Given the description of an element on the screen output the (x, y) to click on. 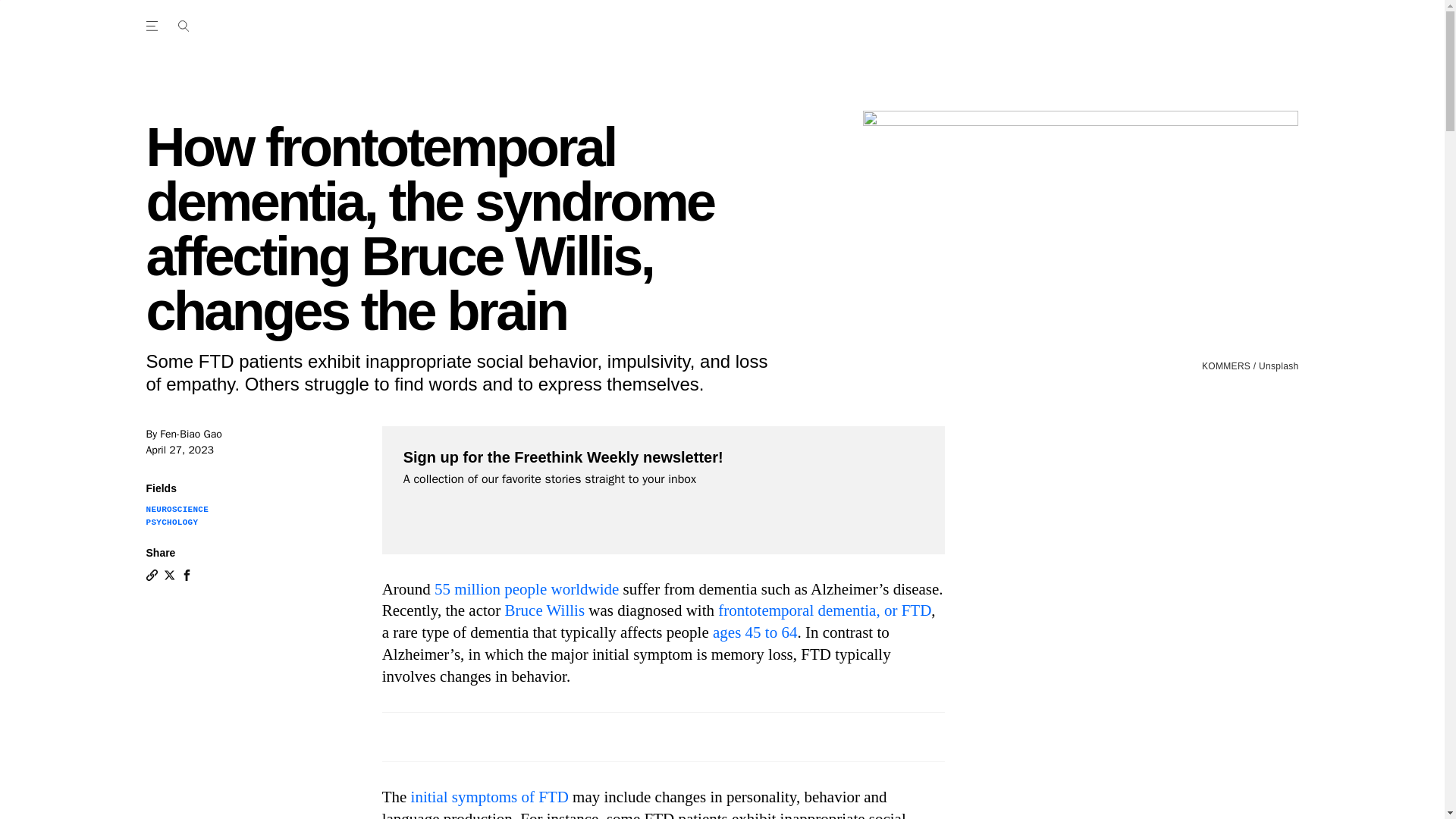
55 million people worldwide (525, 588)
PSYCHOLOGY (171, 522)
NEUROSCIENCE (176, 509)
Open the Main Navigation Menu (182, 26)
Bruce Willis (545, 610)
Open the Main Navigation Menu (153, 26)
